Given the description of an element on the screen output the (x, y) to click on. 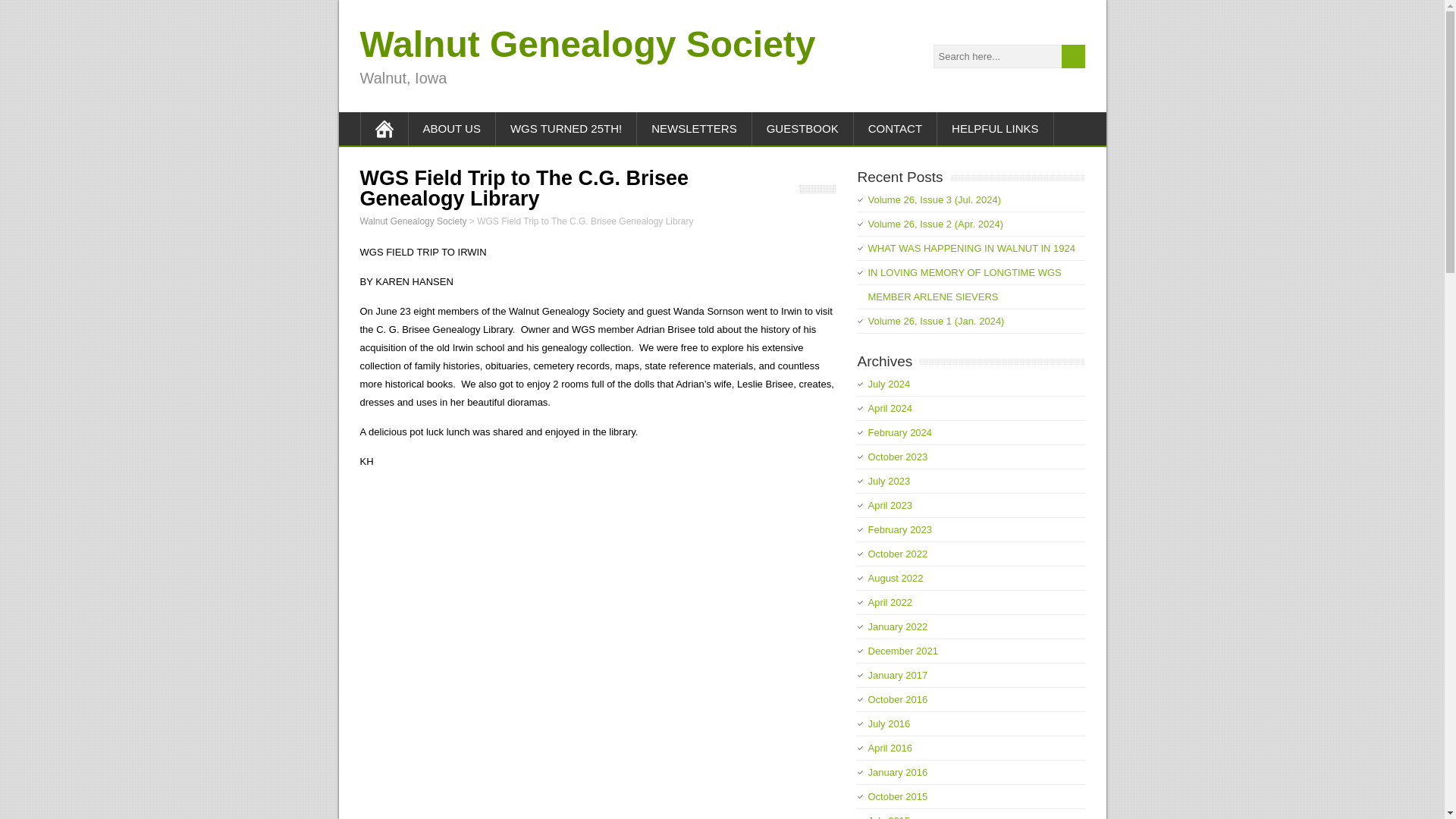
Walnut Genealogy Society (587, 44)
October 2022 (897, 553)
February 2024 (899, 432)
July 2016 (888, 723)
Go to Walnut Genealogy Society. (412, 221)
July 2023 (888, 480)
October 2015 (897, 796)
April 2022 (889, 602)
October 2016 (897, 699)
April 2016 (889, 747)
April 2023 (889, 505)
WHAT WAS HAPPENING IN WALNUT IN 1924 (971, 247)
IN LOVING MEMORY OF LONGTIME WGS MEMBER ARLENE SIEVERS (964, 284)
August 2022 (895, 577)
October 2023 (897, 456)
